Given the description of an element on the screen output the (x, y) to click on. 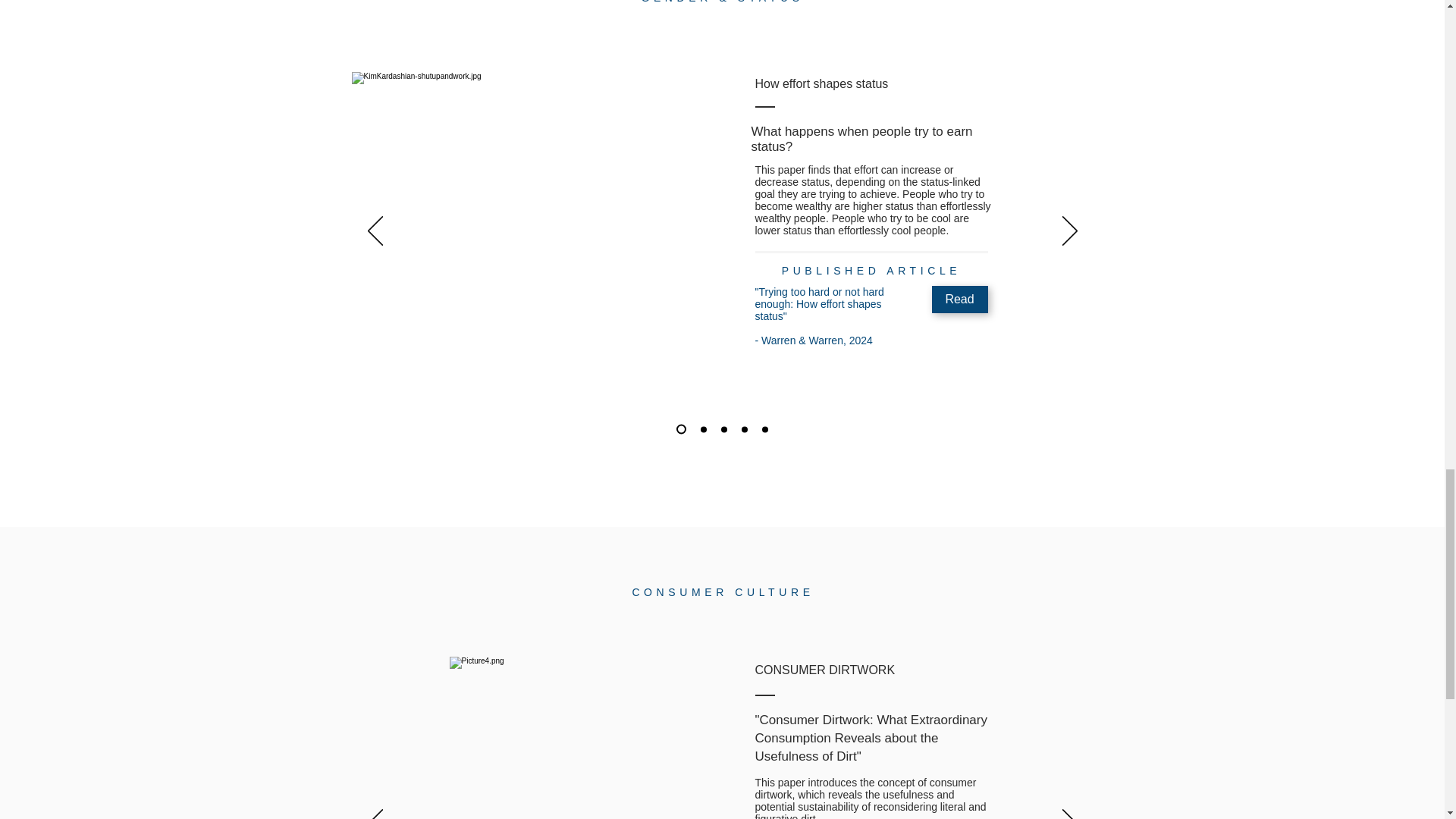
Read (959, 298)
nfkn1435h.jpg (579, 737)
nfkn1435h.jpg (516, 181)
